Given the description of an element on the screen output the (x, y) to click on. 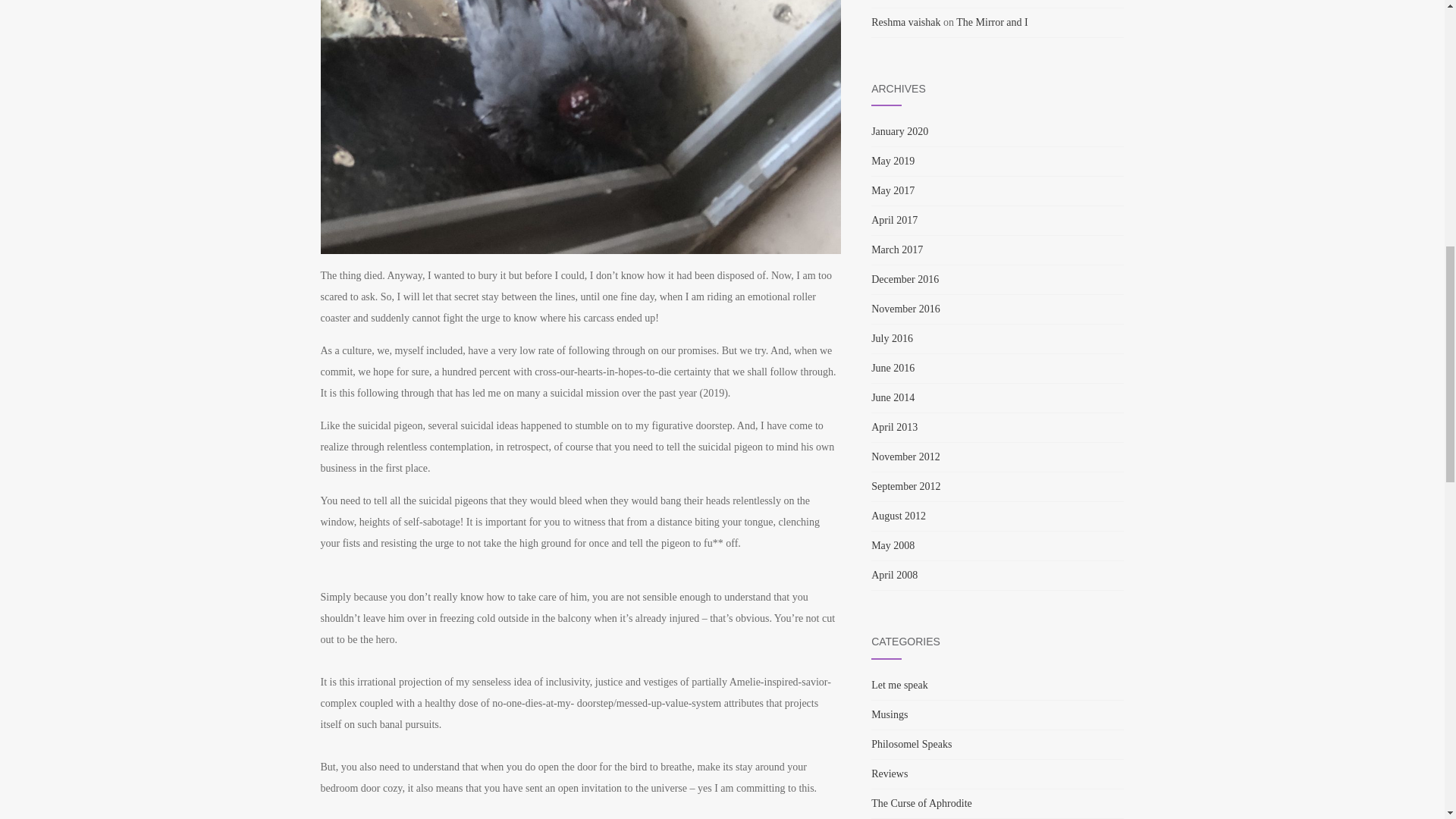
Reshma vaishak (905, 21)
January 2020 (899, 131)
The Mirror and I (991, 21)
May 2019 (892, 161)
